Given the description of an element on the screen output the (x, y) to click on. 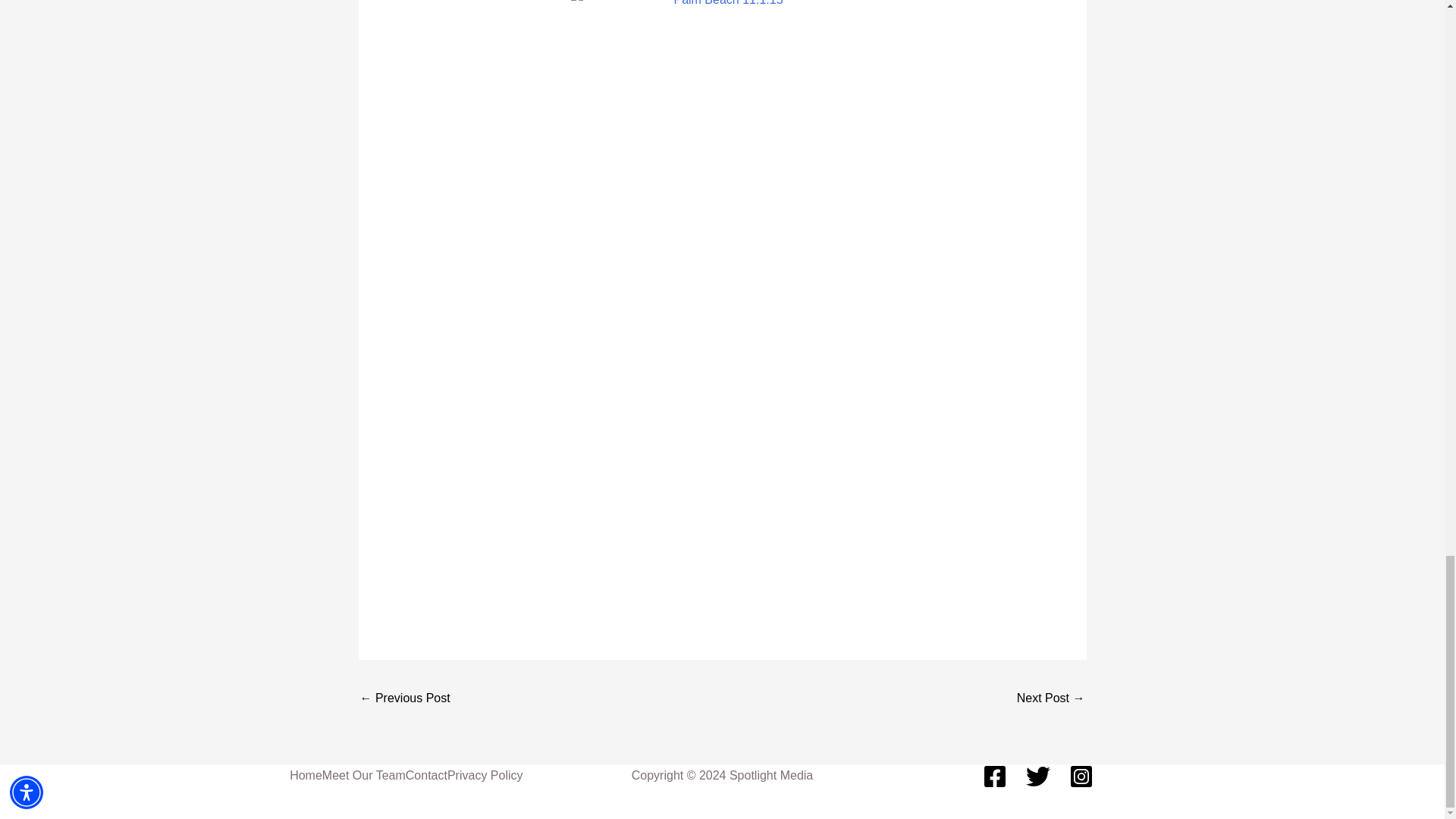
Holiday Dating Survival Guide (1050, 699)
Privacy Policy (484, 775)
Meet Our Team (363, 775)
Contact (426, 775)
Home (305, 775)
